Given the description of an element on the screen output the (x, y) to click on. 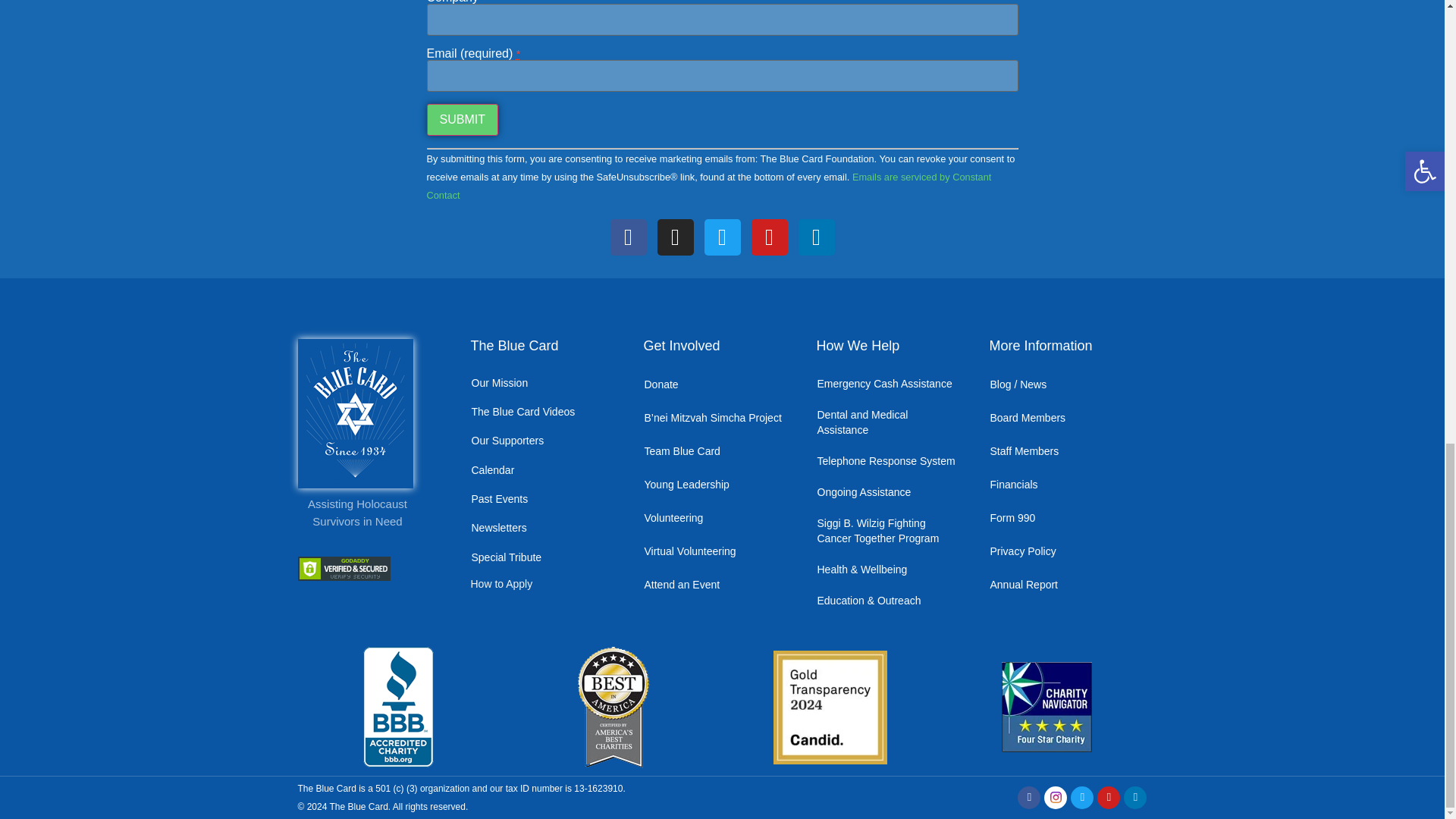
SUBMIT (461, 119)
